Given the description of an element on the screen output the (x, y) to click on. 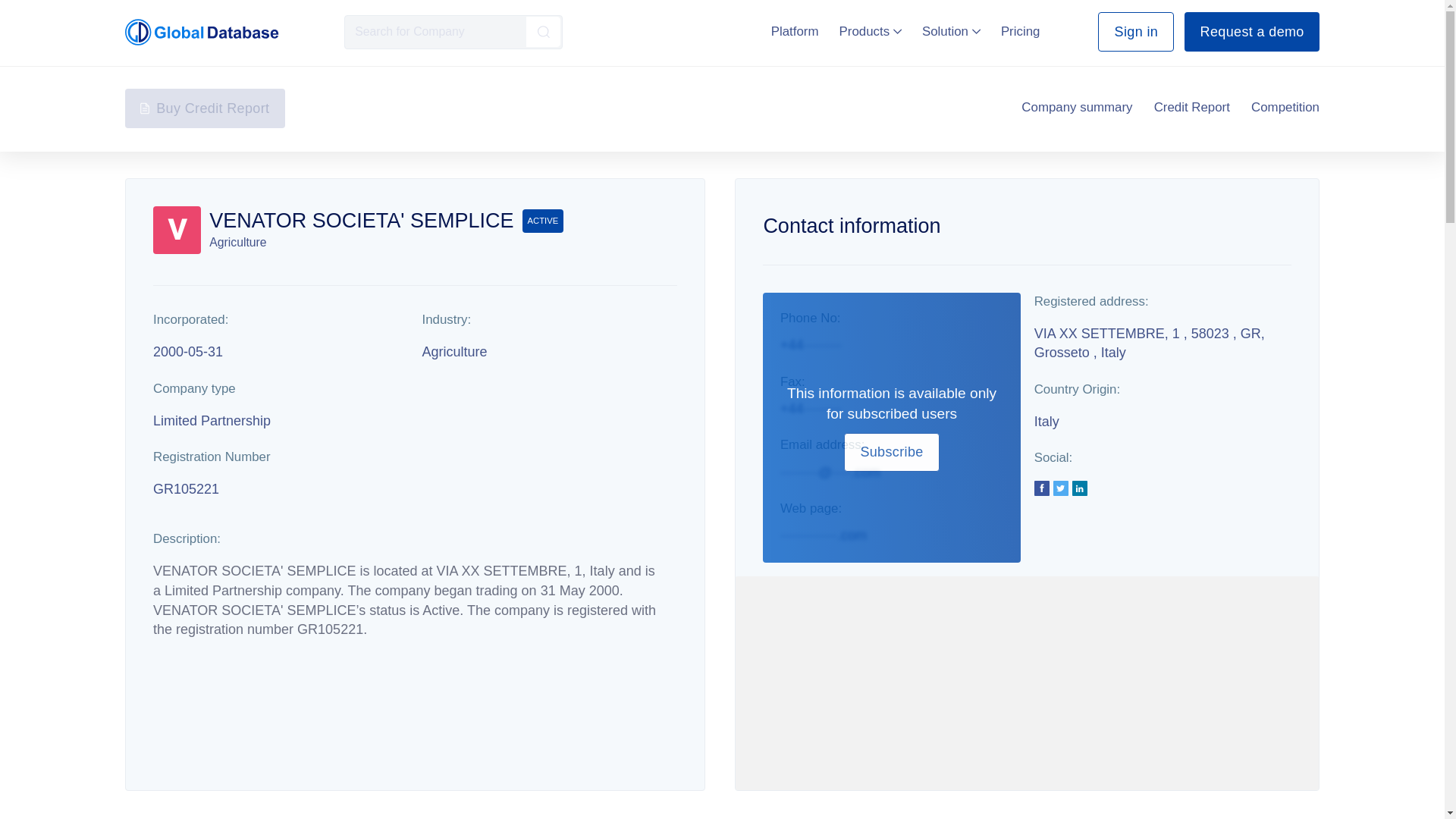
Buy Credit Report (205, 107)
Platform (794, 31)
Company summary (1077, 107)
Competition (1284, 107)
Pricing (1021, 31)
Request a demo (1252, 31)
Credit Report (1192, 107)
Sign in (1135, 31)
Subscribe (891, 452)
